Given the description of an element on the screen output the (x, y) to click on. 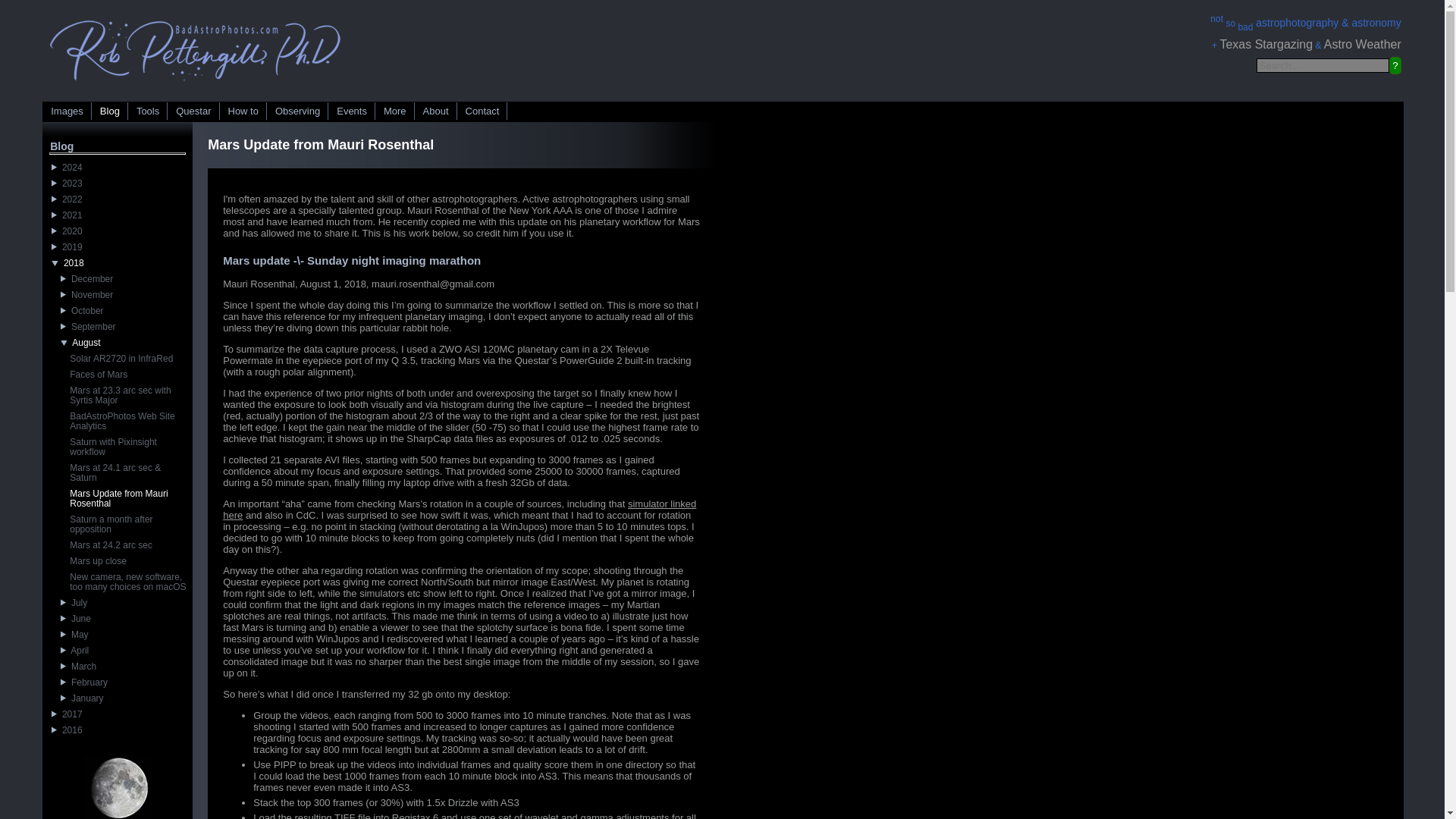
Astro Weather (1361, 43)
Tools (148, 110)
? (1394, 65)
Blog (110, 110)
Home page slide show (195, 83)
? (1394, 65)
Questar (193, 110)
Texas Stargazing (1266, 43)
Images (67, 110)
